Given the description of an element on the screen output the (x, y) to click on. 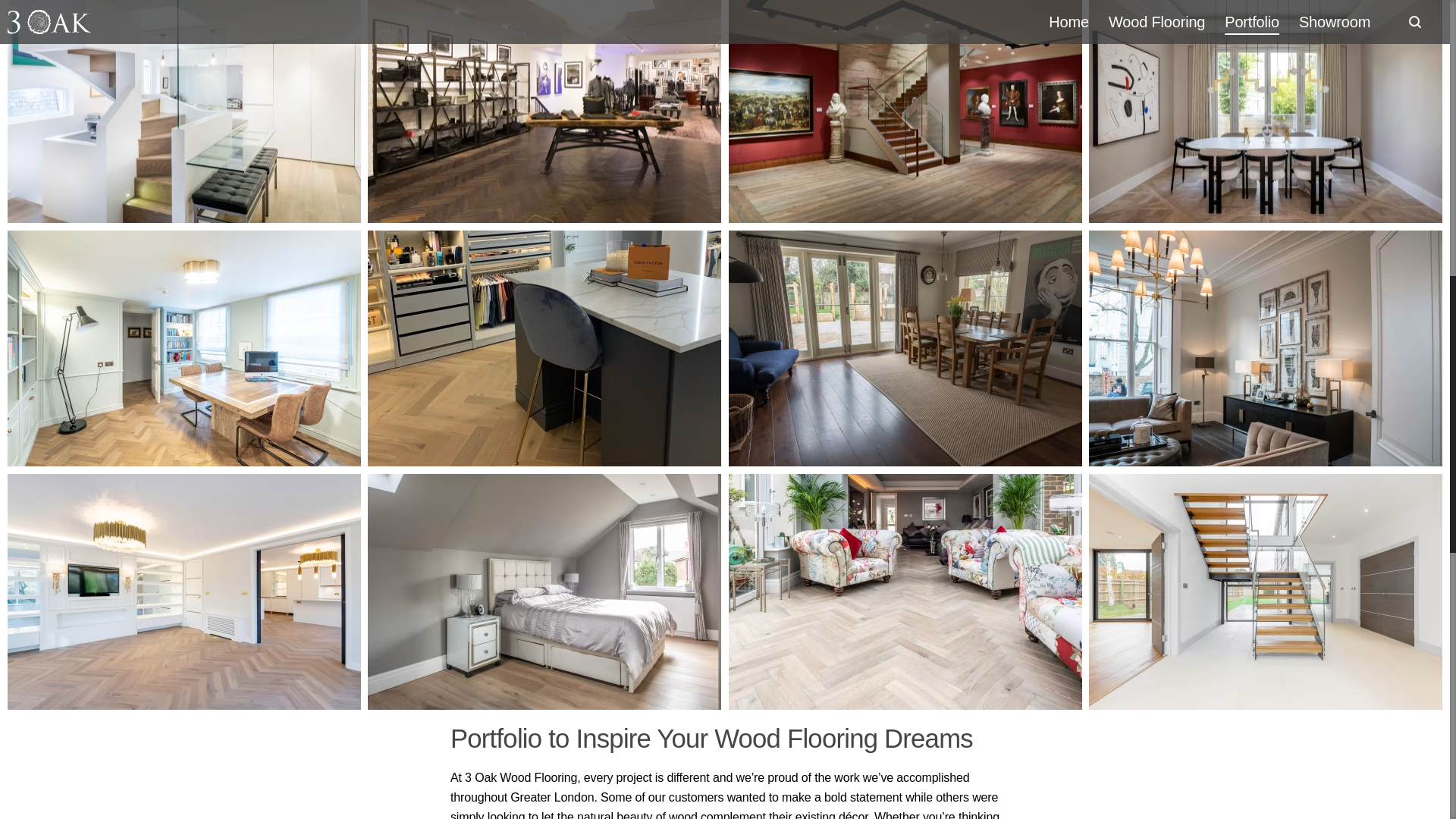
Kensington, SW10 (184, 592)
Hampton Wick, London (905, 592)
Middle Barn, Bullockspits lane (1265, 592)
Versailes Panels, Chelsea (1265, 111)
Highwood House (184, 348)
Monmouth Avenue, KT1 (544, 592)
Chepstow Place (1265, 348)
Bedfordshire (544, 348)
The Green North, Oxon (905, 348)
Daleham Mews-Belsize Park (184, 111)
John Varvatos, Westminster (544, 111)
